Given the description of an element on the screen output the (x, y) to click on. 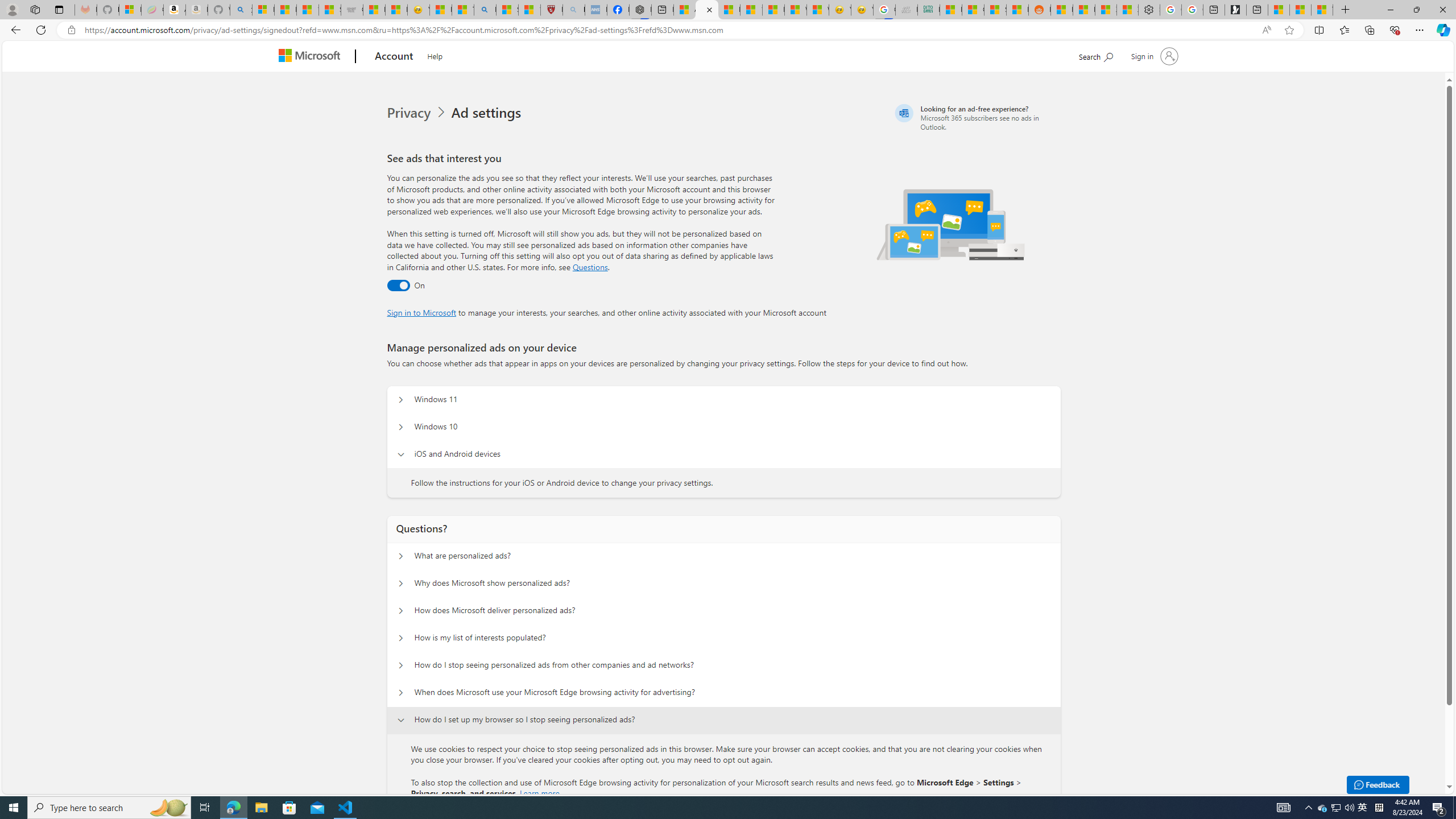
12 Popular Science Lies that Must be Corrected (529, 9)
Looking for an ad-free experience? (976, 117)
Robert H. Shmerling, MD - Harvard Health (551, 9)
Combat Siege (352, 9)
